Given the description of an element on the screen output the (x, y) to click on. 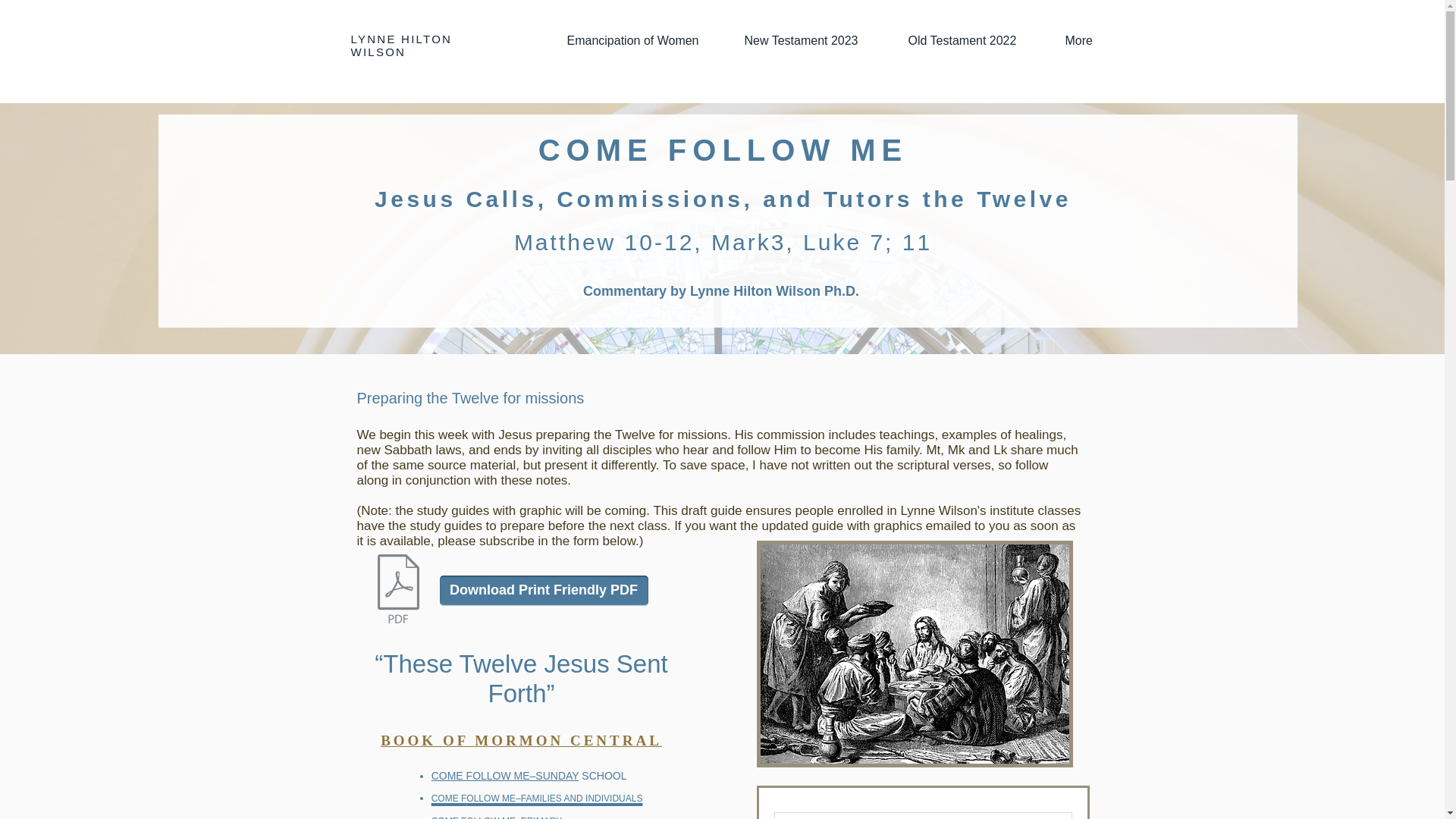
New Testament 2023 (814, 40)
INDIVIDUALS (613, 790)
Old Testament 2022 (974, 40)
LYNNE HILTON WILSON (400, 45)
Emancipation of Women (643, 40)
Download Print Friendly PDF (543, 590)
BOOK OF MORMON CENTRAL (521, 740)
